Given the description of an element on the screen output the (x, y) to click on. 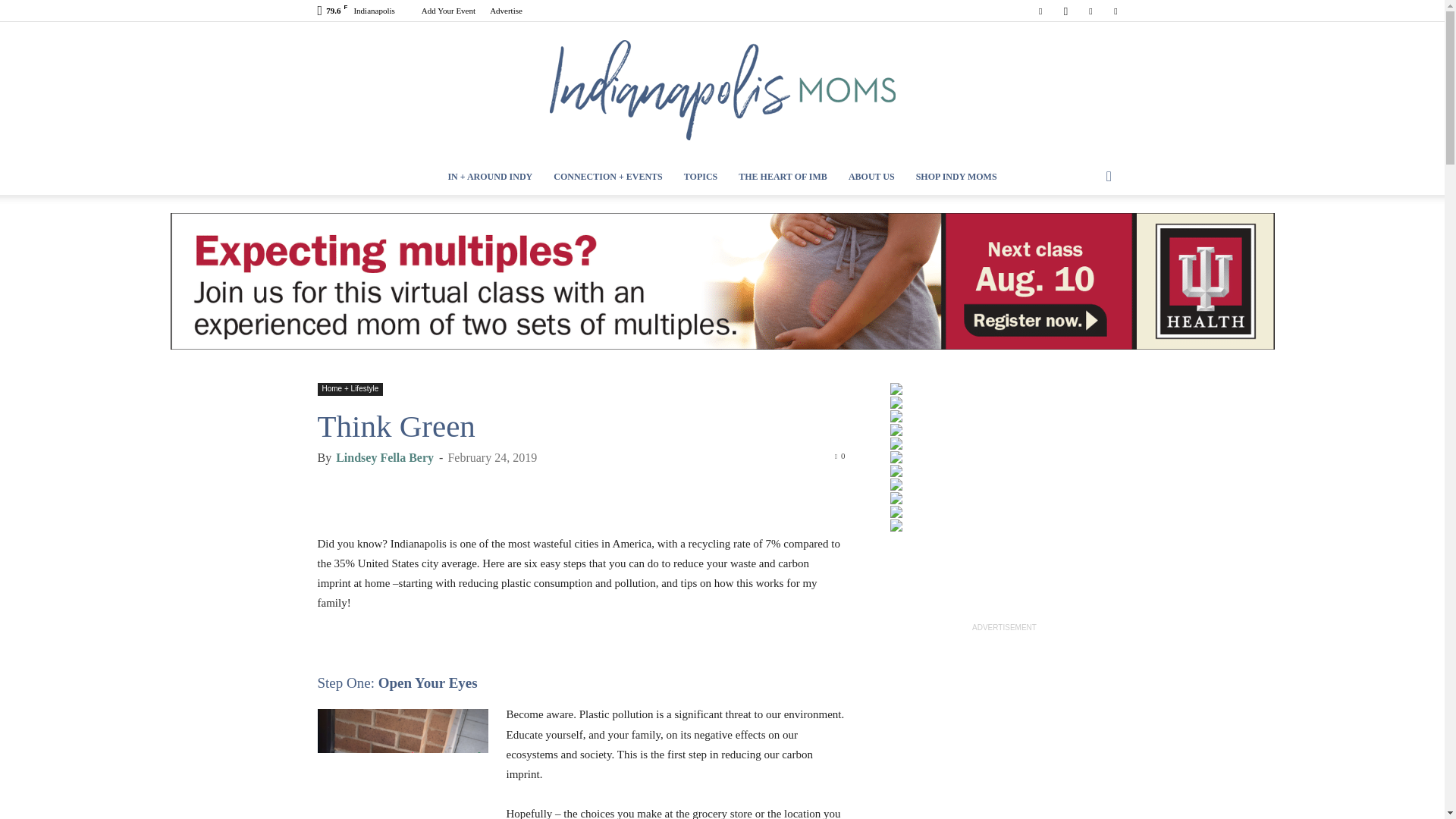
Facebook (1040, 10)
Twitter (1114, 10)
Pinterest (1090, 10)
Add Your Event (449, 10)
Indianapolis Moms (721, 90)
Instagram (1065, 10)
Advertise (505, 10)
